Given the description of an element on the screen output the (x, y) to click on. 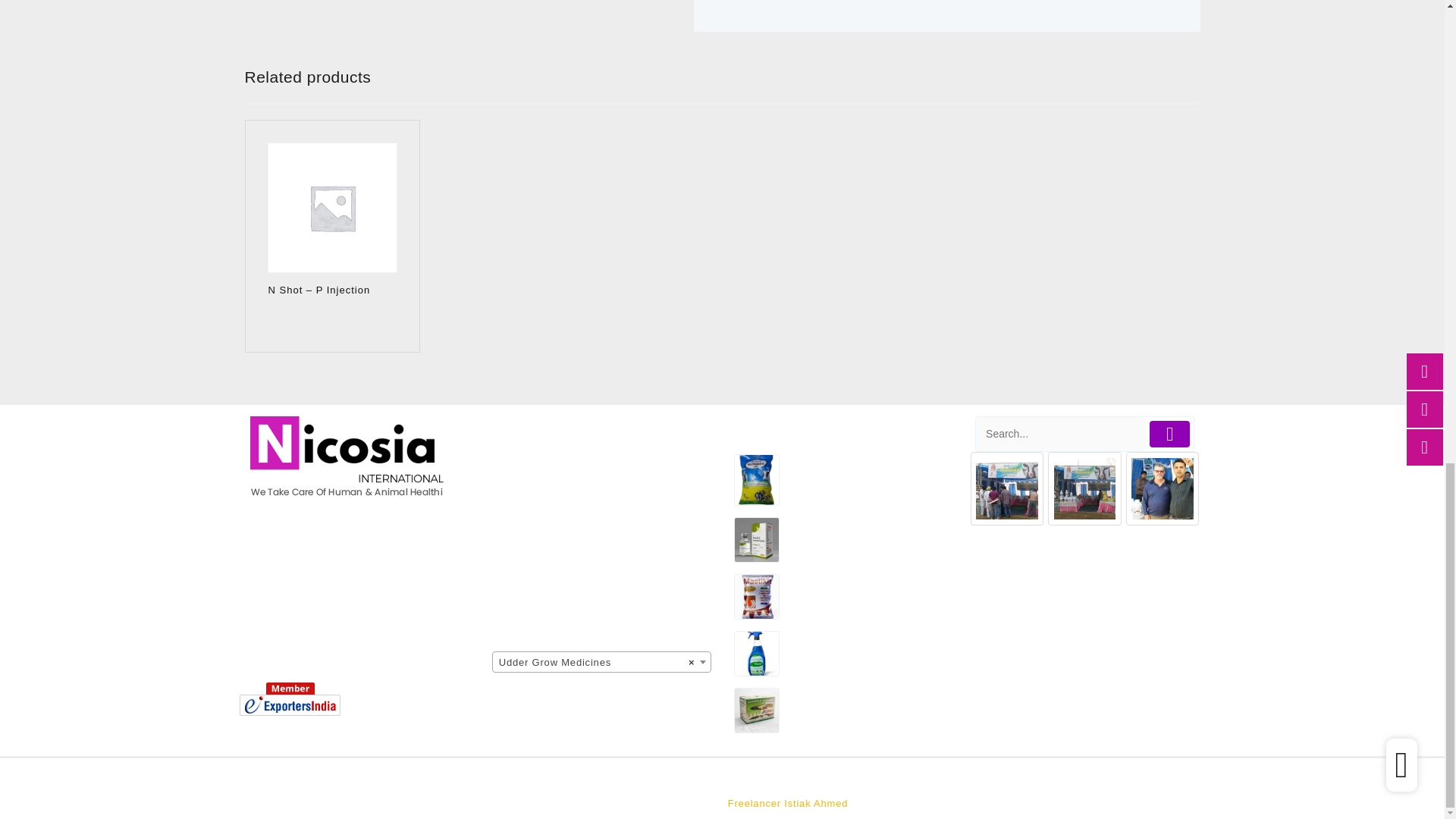
Udder Grow Medicines (601, 666)
Search (1060, 433)
